Given the description of an element on the screen output the (x, y) to click on. 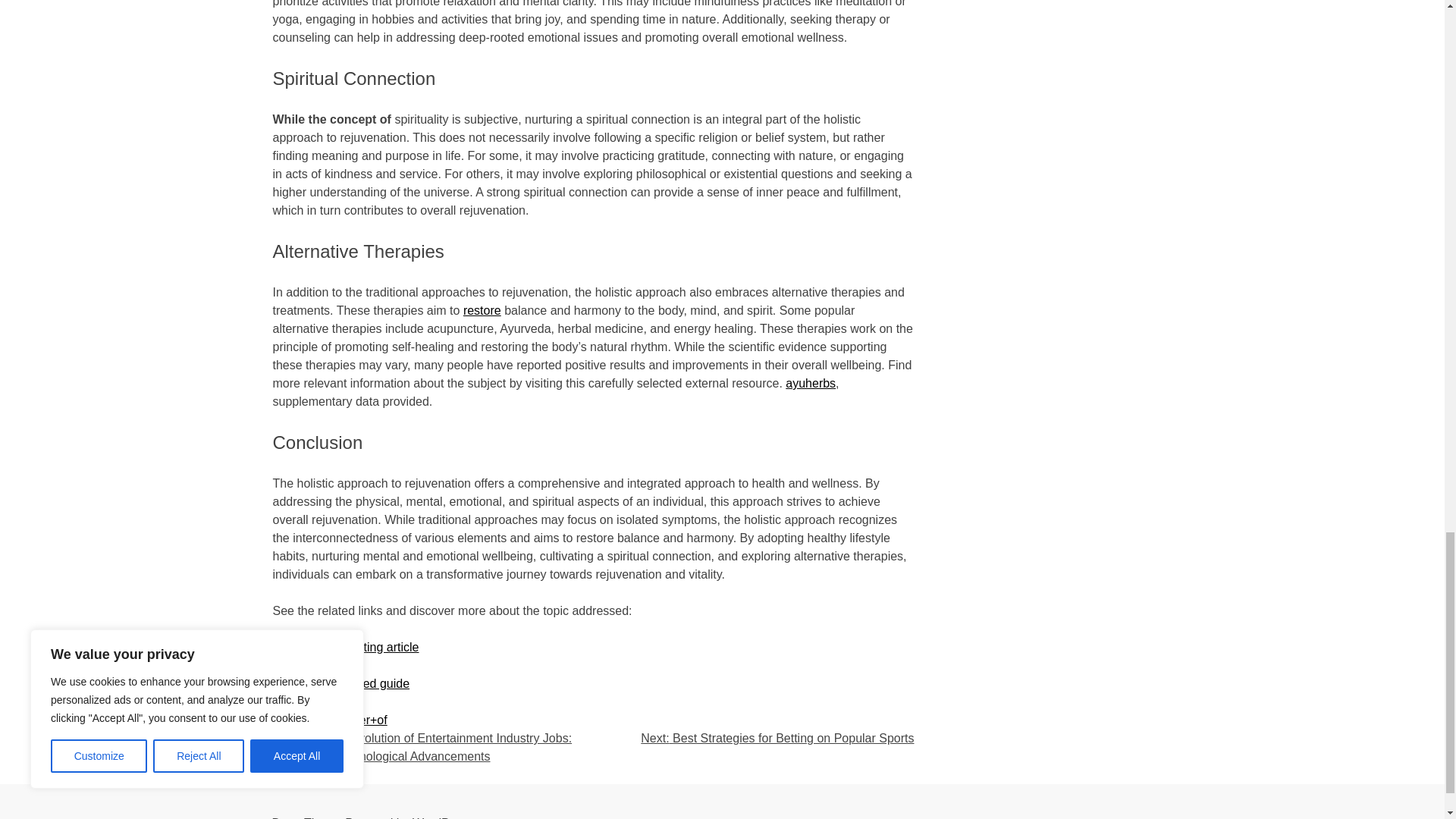
Explore this related guide (341, 683)
restore (481, 309)
Read this interesting article (346, 646)
ayuherbs (810, 382)
Next: Best Strategies for Betting on Popular Sports (777, 738)
